Given the description of an element on the screen output the (x, y) to click on. 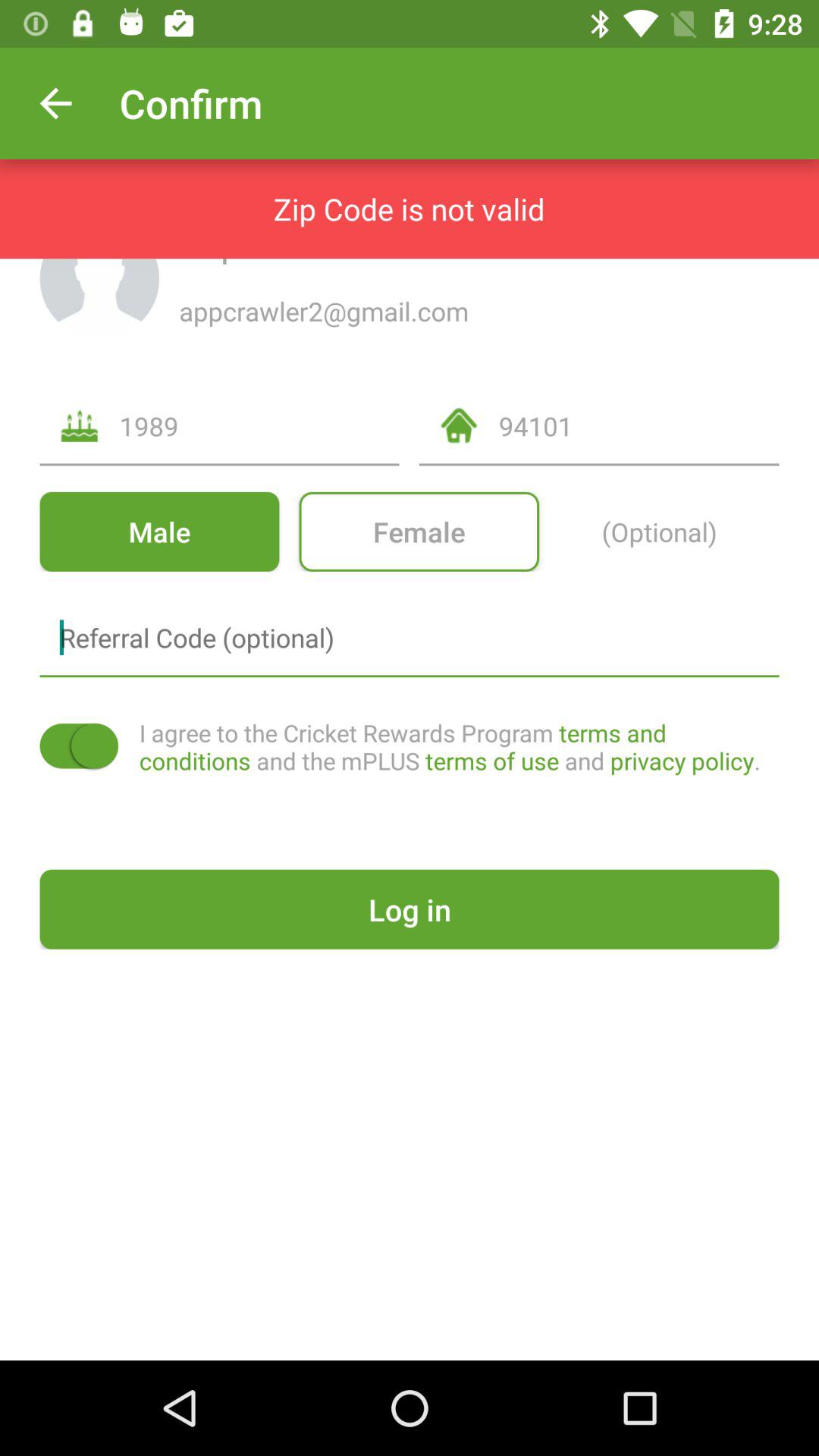
select log in icon (409, 909)
